Given the description of an element on the screen output the (x, y) to click on. 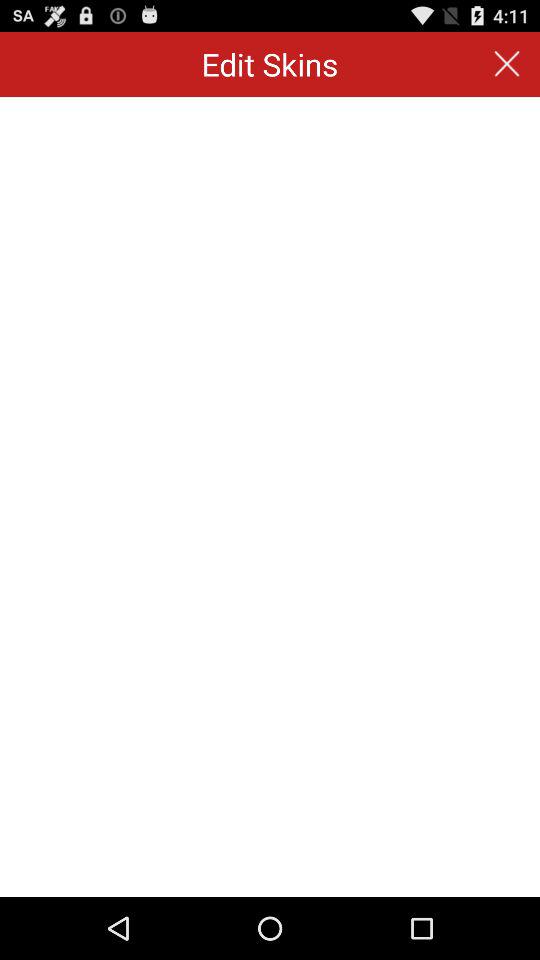
an x symbol that when pressed with close out the page (506, 64)
